Given the description of an element on the screen output the (x, y) to click on. 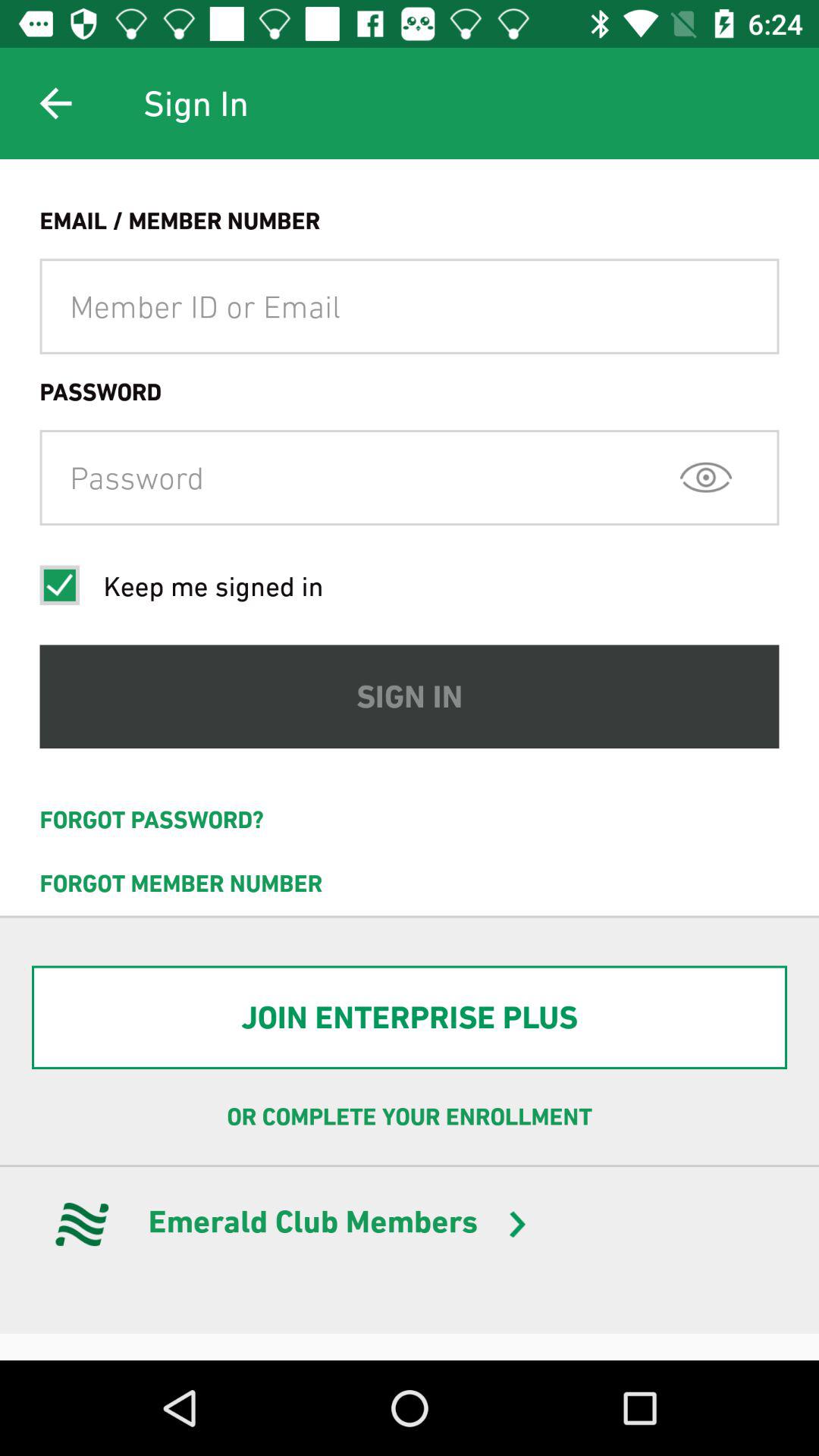
click icon above the sign in (705, 477)
